Given the description of an element on the screen output the (x, y) to click on. 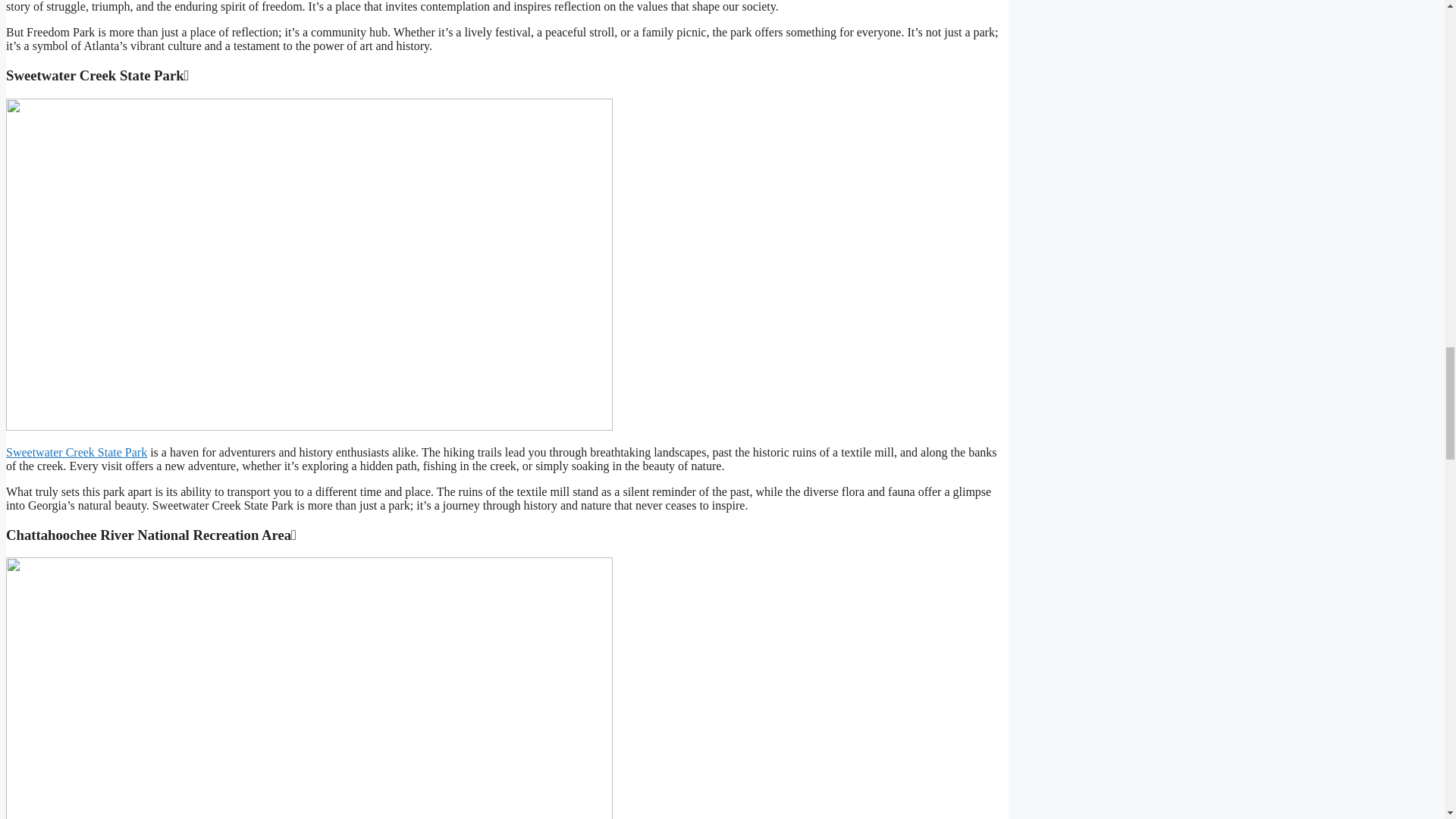
Sweetwater Creek State Park (76, 451)
